Given the description of an element on the screen output the (x, y) to click on. 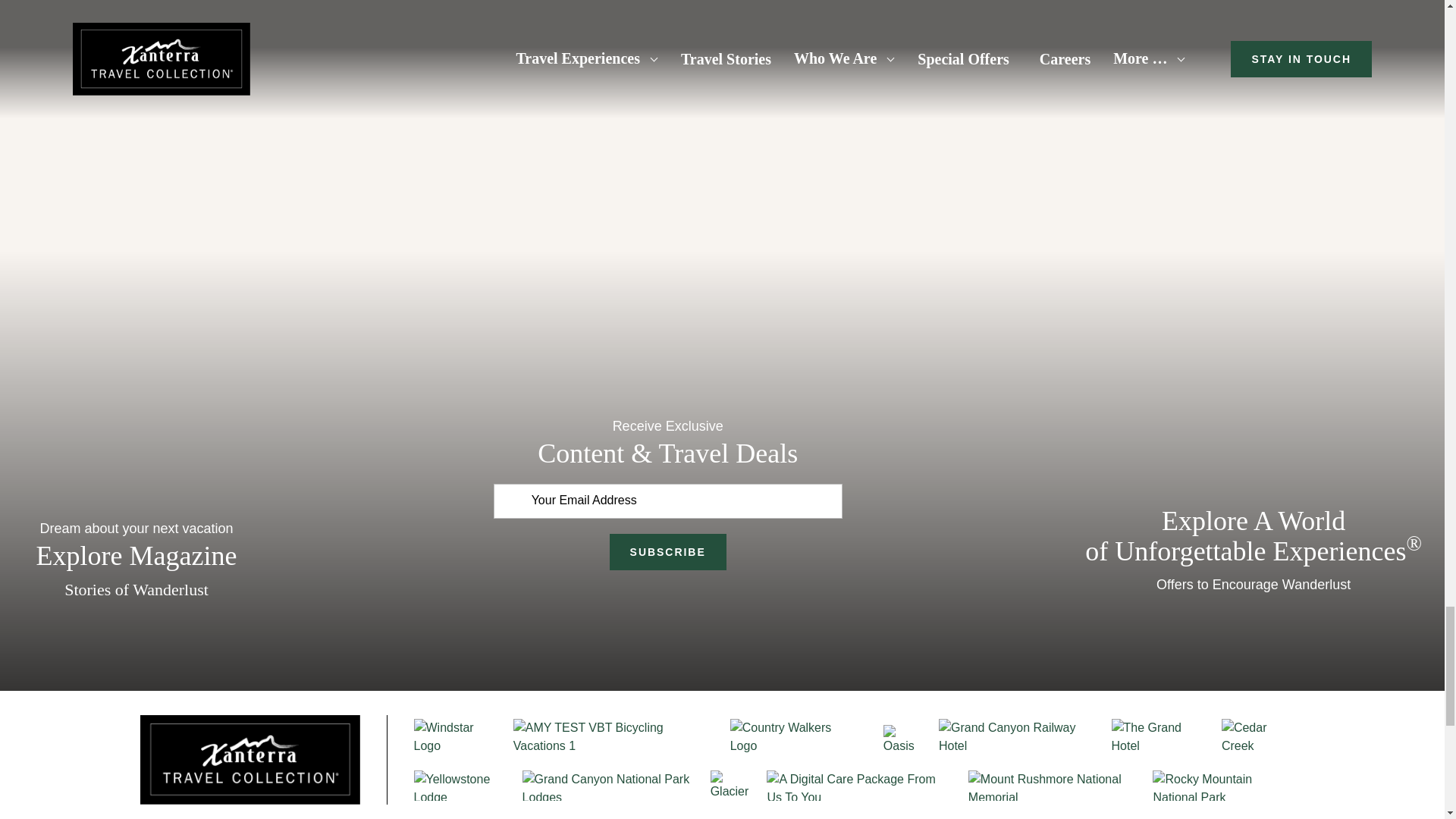
Country Walkers Logo (791, 736)
Windstar Logo (455, 736)
Grand Canyon Railway Hotel (1017, 736)
Current Offers (1253, 492)
Oasis (903, 740)
Learn More About Explore Magazine (136, 491)
AMY TEST VBT Bicycling Vacations 1 (613, 736)
Subscribe (668, 551)
